Given the description of an element on the screen output the (x, y) to click on. 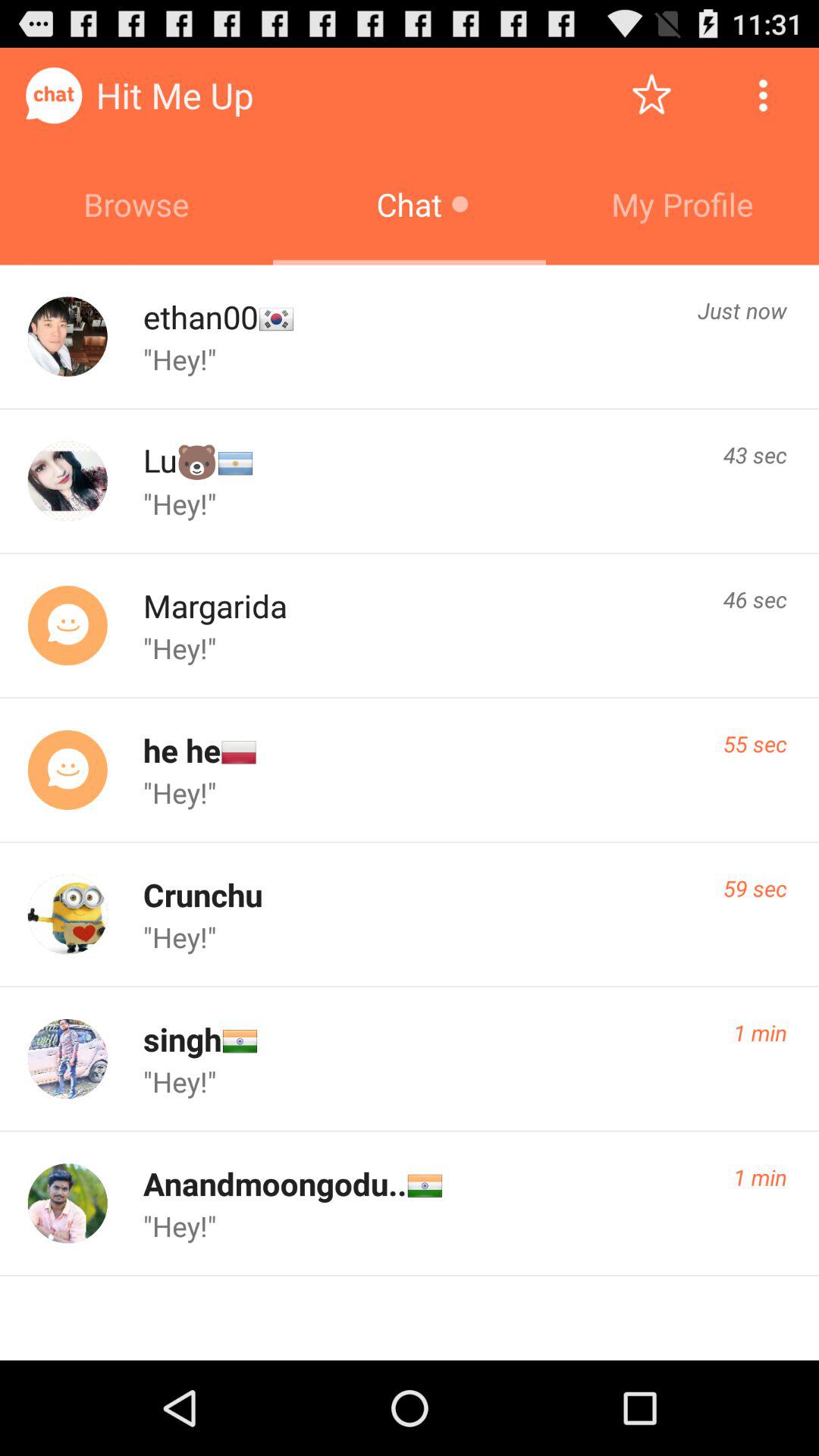
select the icon above "hey!" (200, 316)
